Given the description of an element on the screen output the (x, y) to click on. 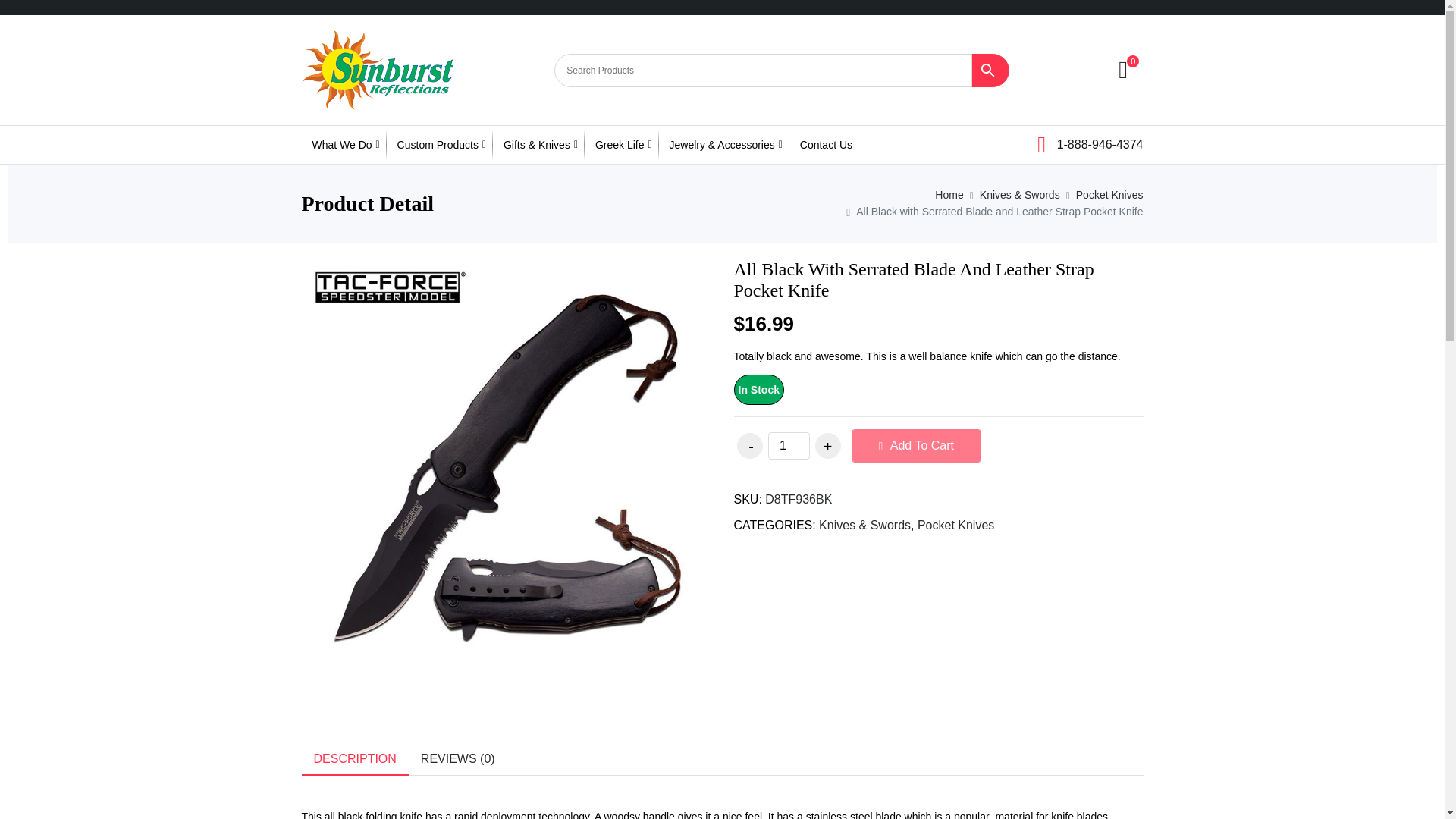
- (749, 445)
1-888-946-4374 (1089, 143)
1 (788, 445)
Qty (788, 445)
Sunburst Reflections (376, 69)
